Given the description of an element on the screen output the (x, y) to click on. 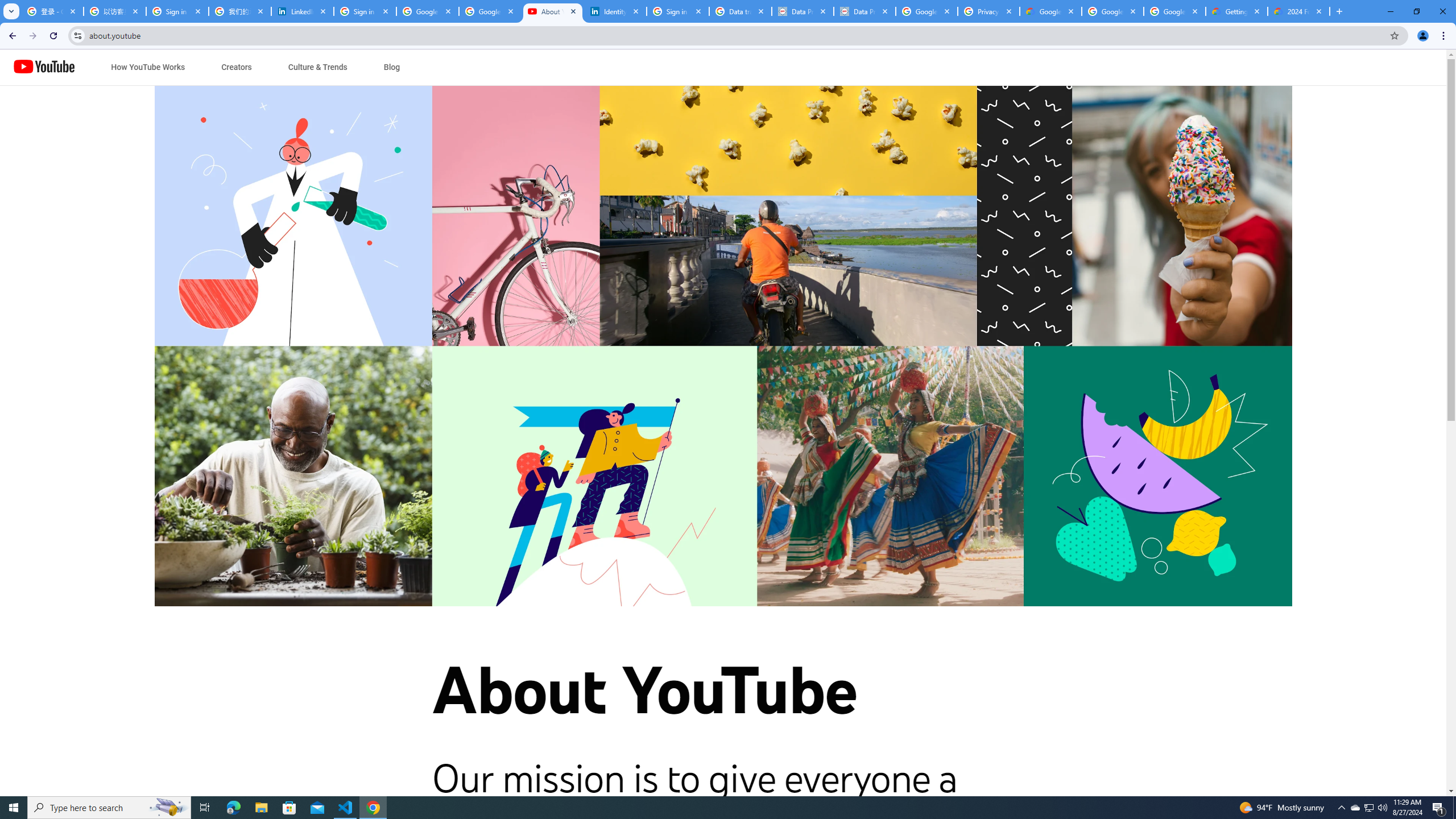
Jump to content (105, 67)
Sign in - Google Accounts (177, 11)
Creators (236, 67)
Sign in - Google Accounts (678, 11)
Home page link (44, 67)
LinkedIn Privacy Policy (302, 11)
Google Cloud Terms Directory | Google Cloud (1050, 11)
Google Workspace - Specific Terms (1174, 11)
Data Privacy Framework (864, 11)
